Given the description of an element on the screen output the (x, y) to click on. 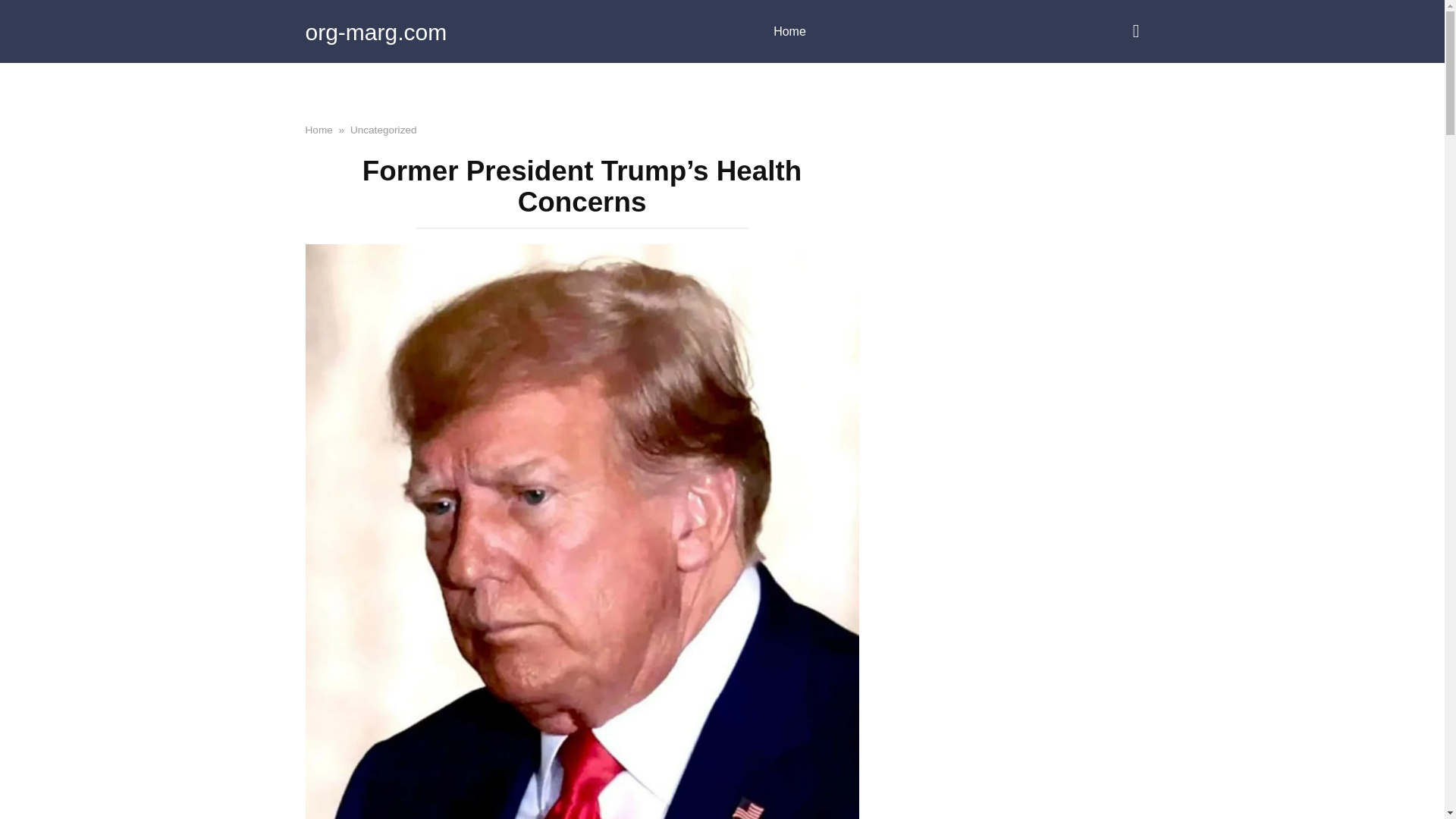
Home (317, 129)
Home (788, 31)
org-marg.com (375, 32)
Uncategorized (383, 129)
